Given the description of an element on the screen output the (x, y) to click on. 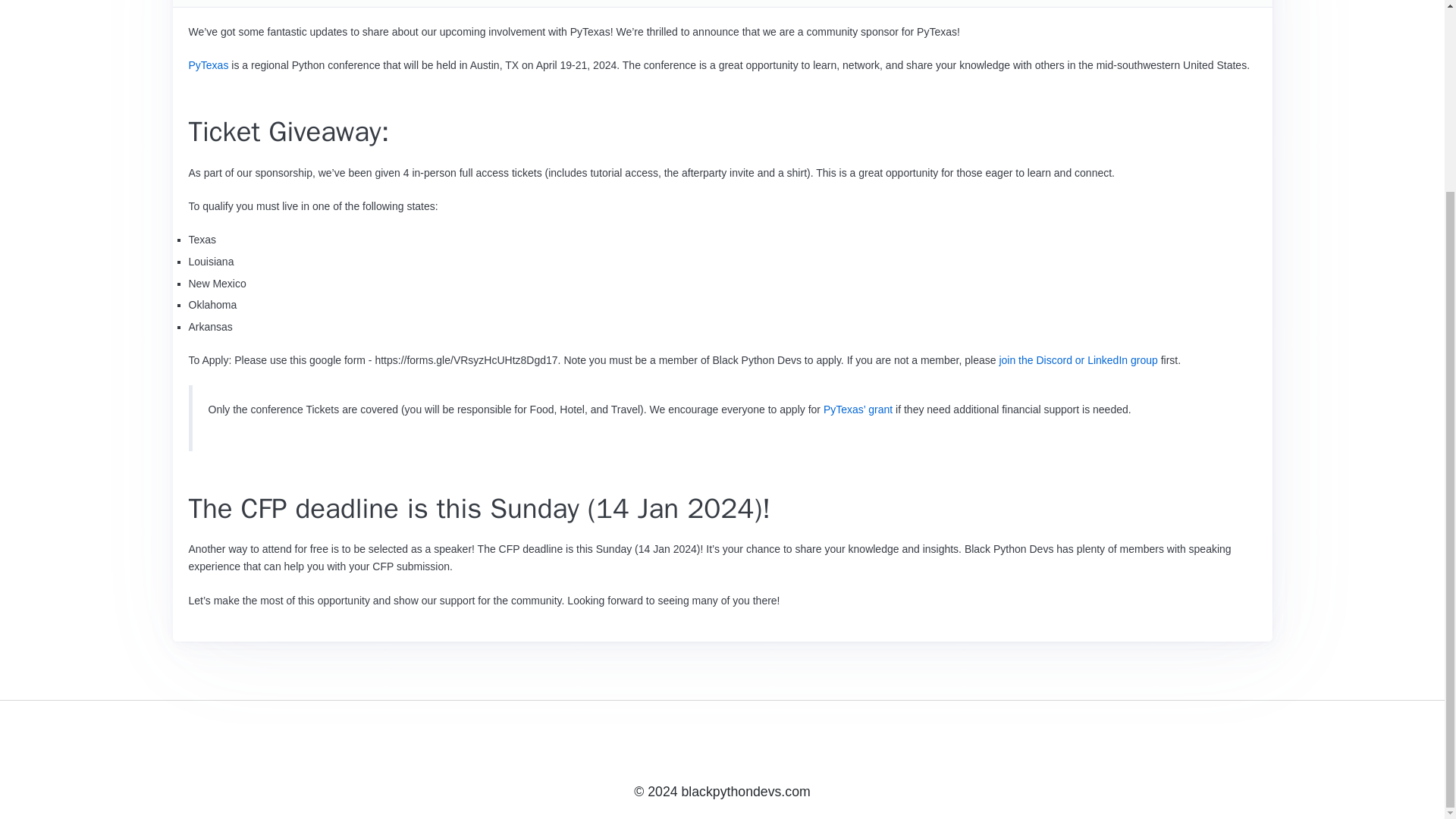
PyTexas (207, 64)
linkedin (680, 746)
youtube (763, 746)
join the Discord or LinkedIn group (1077, 359)
mastodon (721, 746)
discord (639, 746)
x (804, 746)
github (597, 746)
email (846, 746)
